Given the description of an element on the screen output the (x, y) to click on. 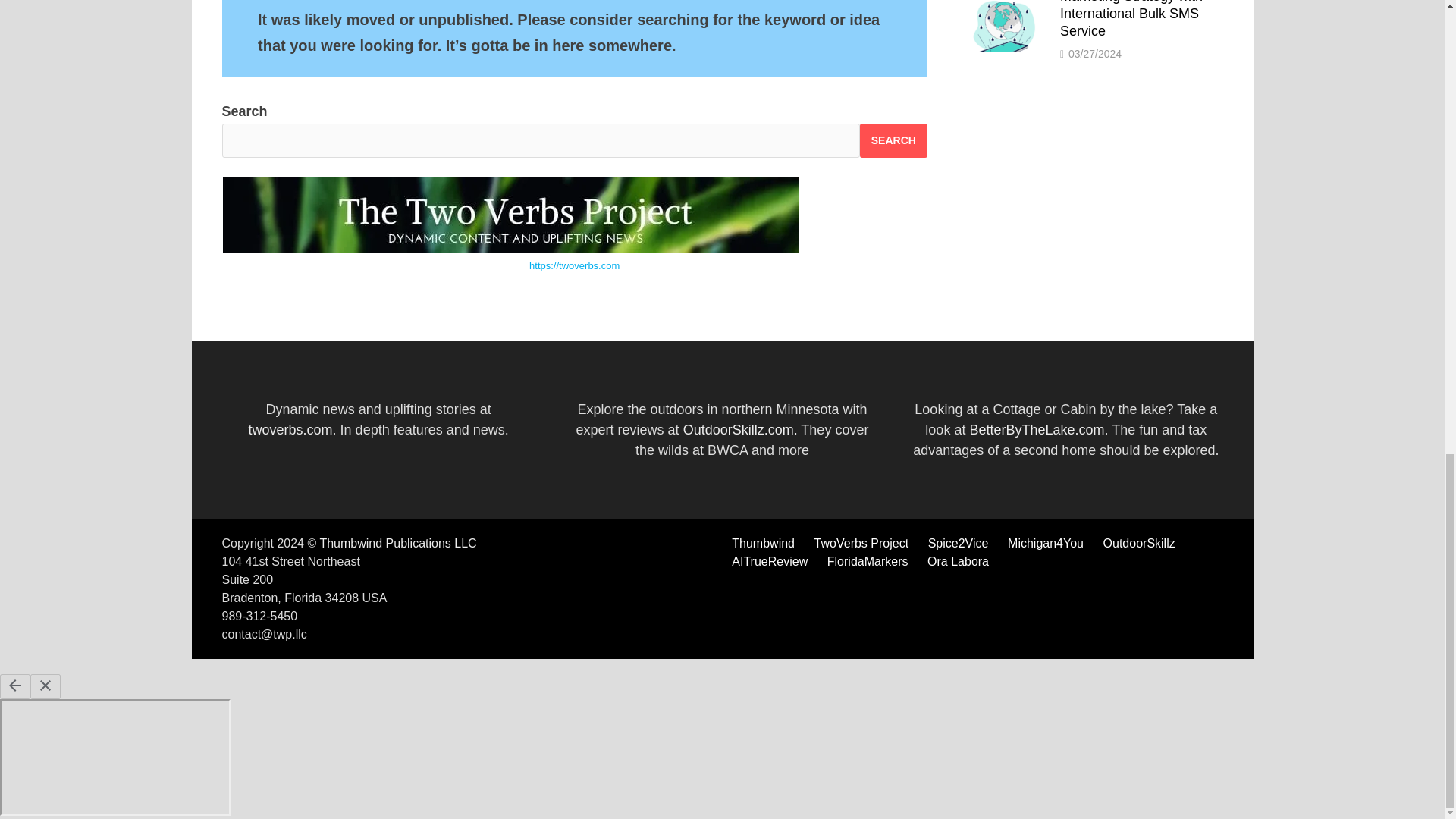
SEARCH (893, 140)
Marketing Strategy with International Bulk SMS Service (1003, 2)
